Given the description of an element on the screen output the (x, y) to click on. 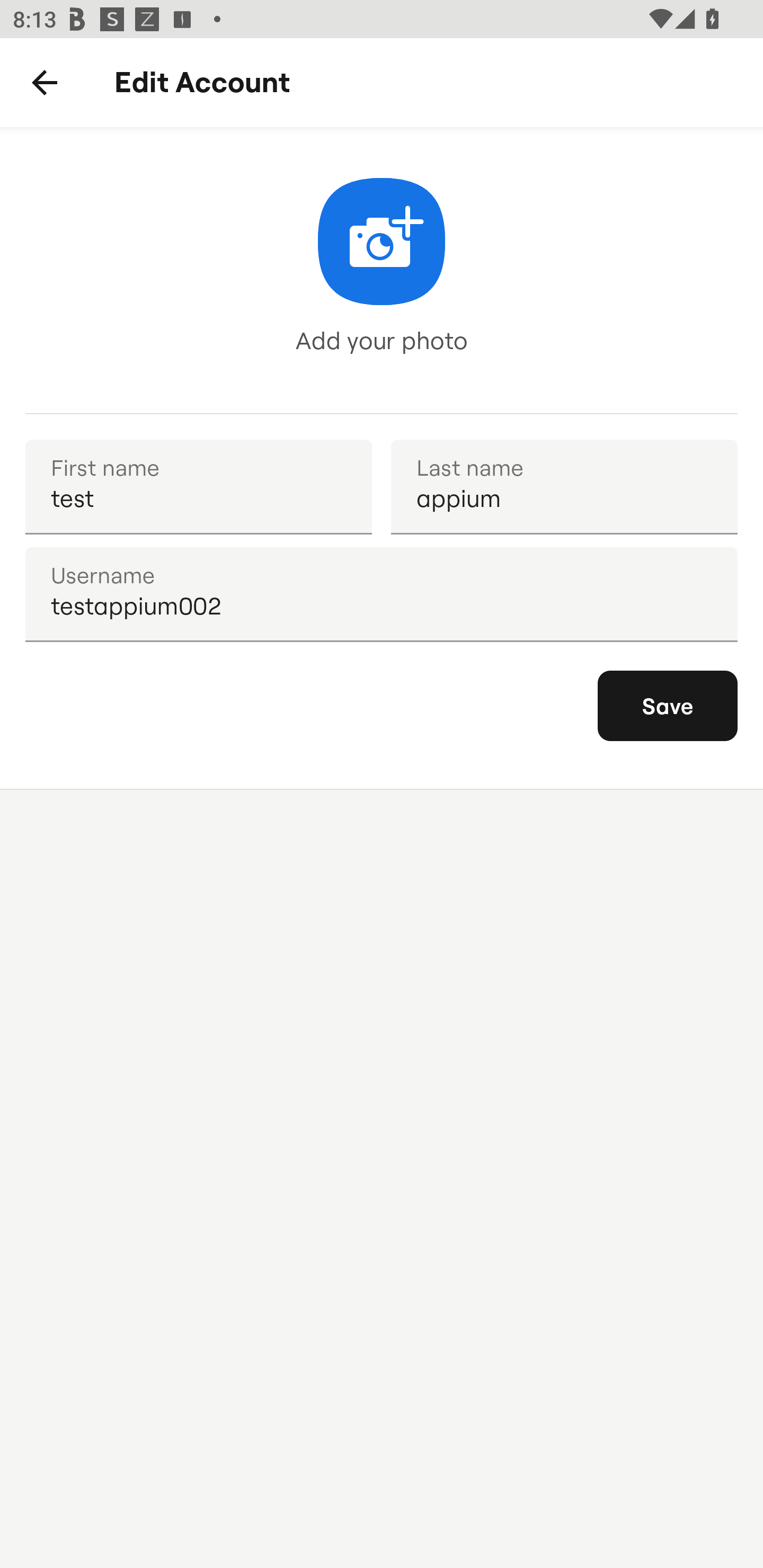
Back (44, 82)
Add your photo (381, 270)
test (198, 486)
appium (563, 486)
testappium002 (381, 594)
Save (667, 706)
